Given the description of an element on the screen output the (x, y) to click on. 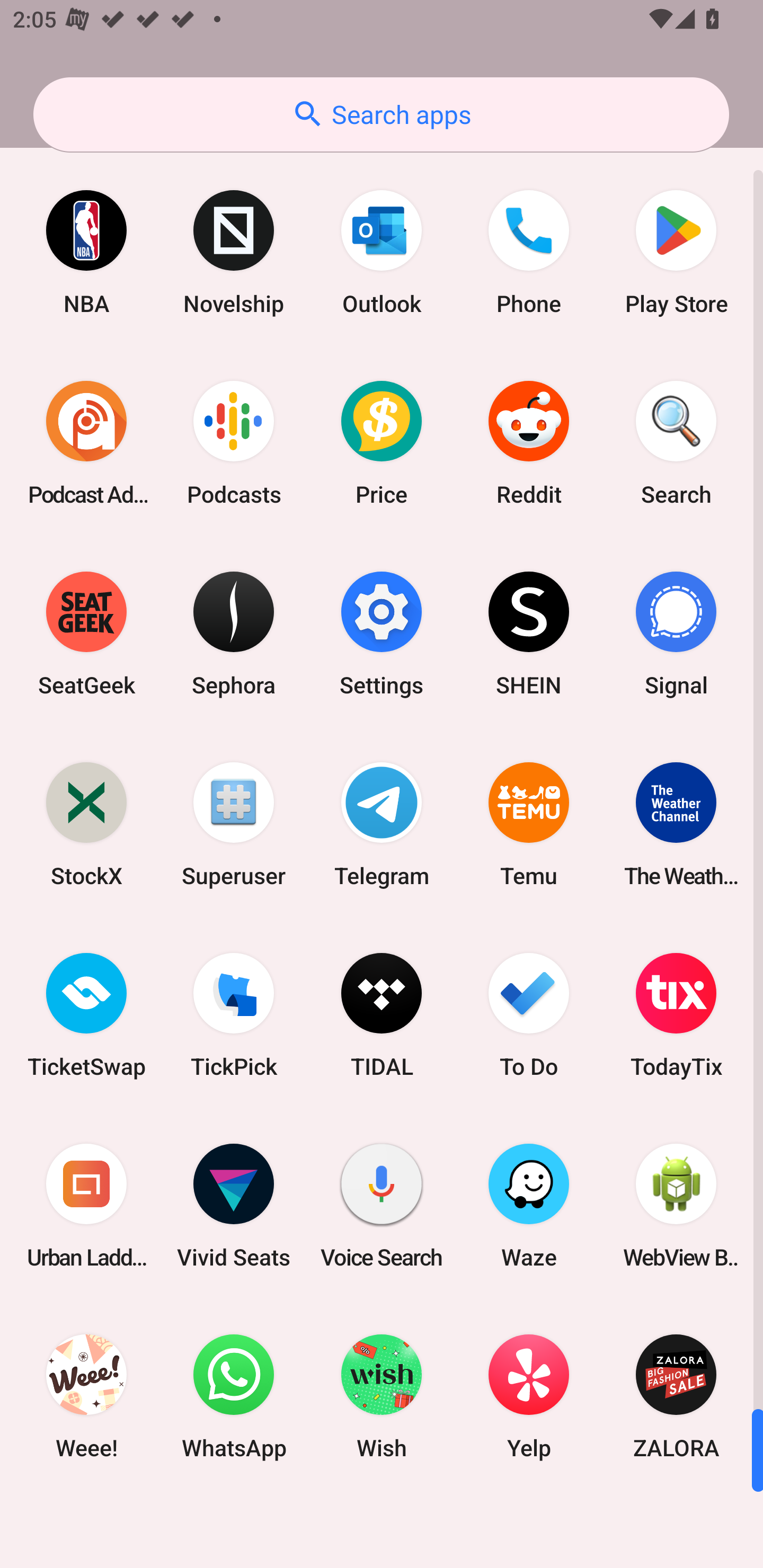
Signal (676, 633)
